Given the description of an element on the screen output the (x, y) to click on. 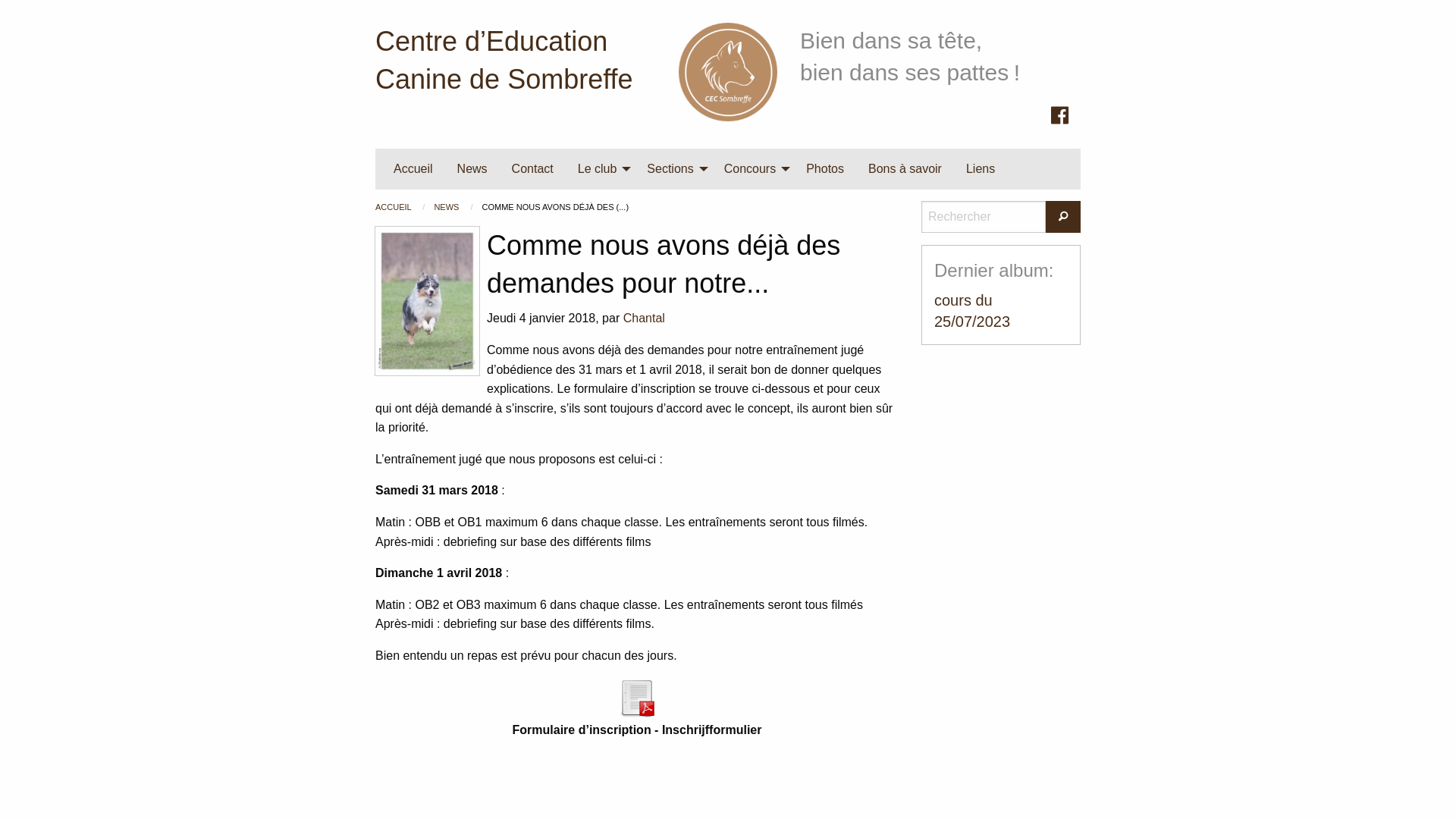
cours du 25/07/2023 Element type: text (972, 310)
Contact Element type: text (532, 168)
PDF - 522.1 ko Element type: hover (636, 696)
Le club Element type: text (600, 168)
Chantal Element type: text (644, 317)
News Element type: text (472, 168)
Liens Element type: text (980, 168)
Photos Element type: text (824, 168)
ACCUEIL Element type: text (394, 206)
Rechercher Element type: text (1062, 216)
Accueil Element type: text (413, 168)
NEWS Element type: text (447, 206)
Sections Element type: text (672, 168)
Facebook Element type: text (1059, 115)
Concours Element type: text (752, 168)
Accueil Element type: hover (727, 70)
